Given the description of an element on the screen output the (x, y) to click on. 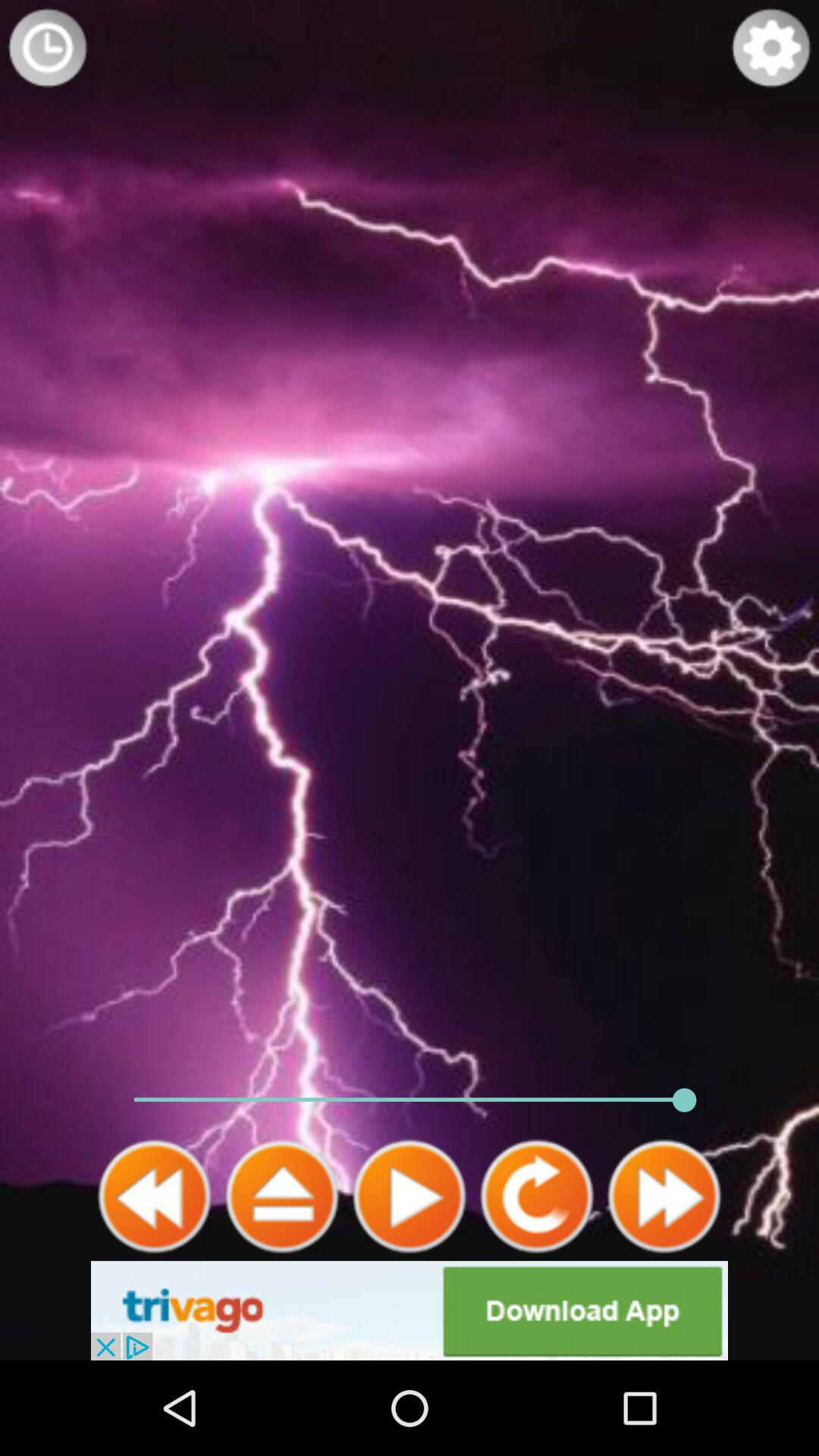
settings swich option (771, 47)
